Given the description of an element on the screen output the (x, y) to click on. 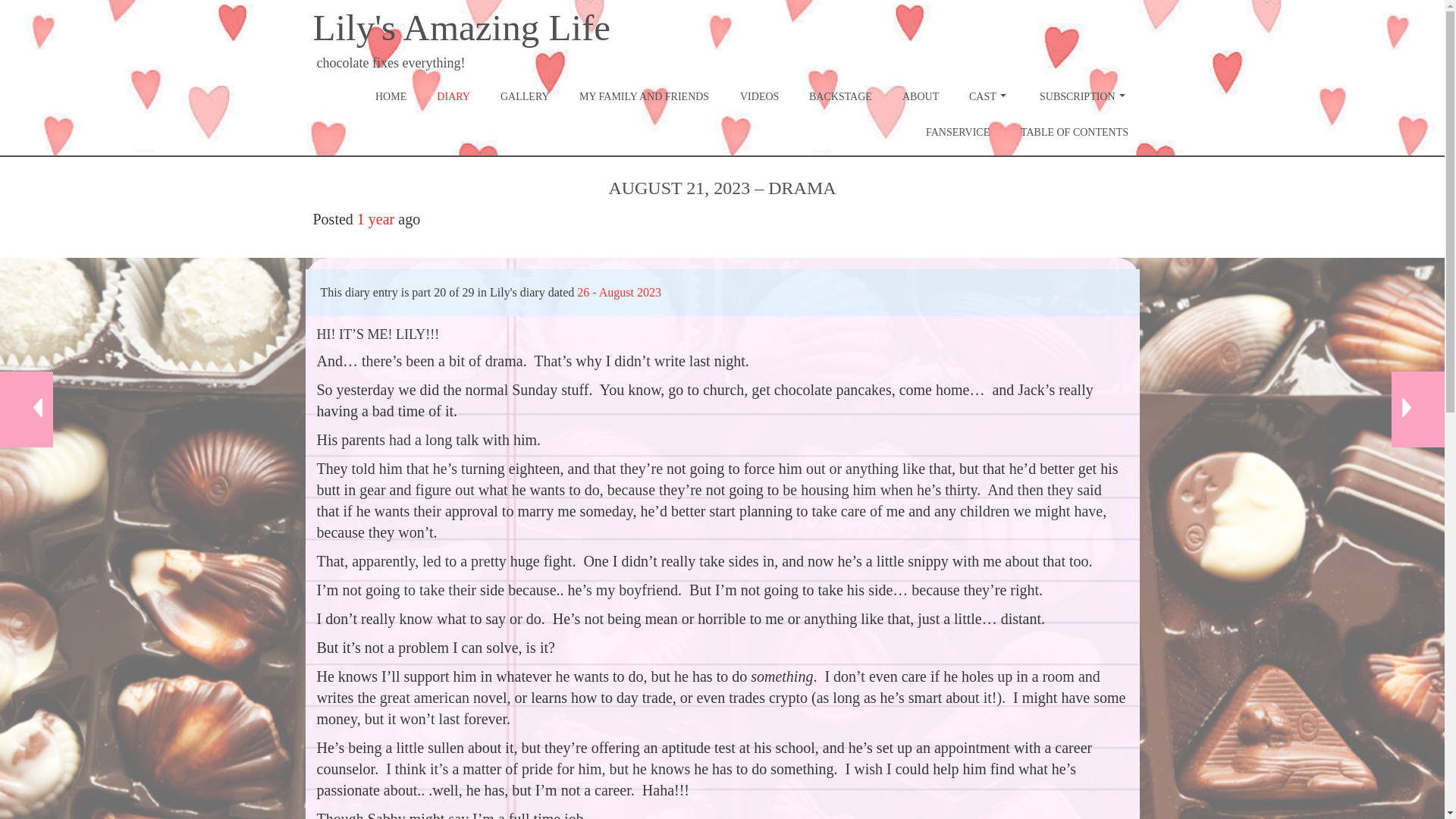
VIDEOS (759, 96)
BACKSTAGE (839, 96)
CAST (989, 96)
SUBSCRIPTION (1083, 96)
26 - August 2023 (618, 291)
ABOUT (919, 96)
TABLE OF CONTENTS (1074, 131)
1 year (375, 218)
26 - August 2023 (618, 291)
HOME (390, 96)
